Given the description of an element on the screen output the (x, y) to click on. 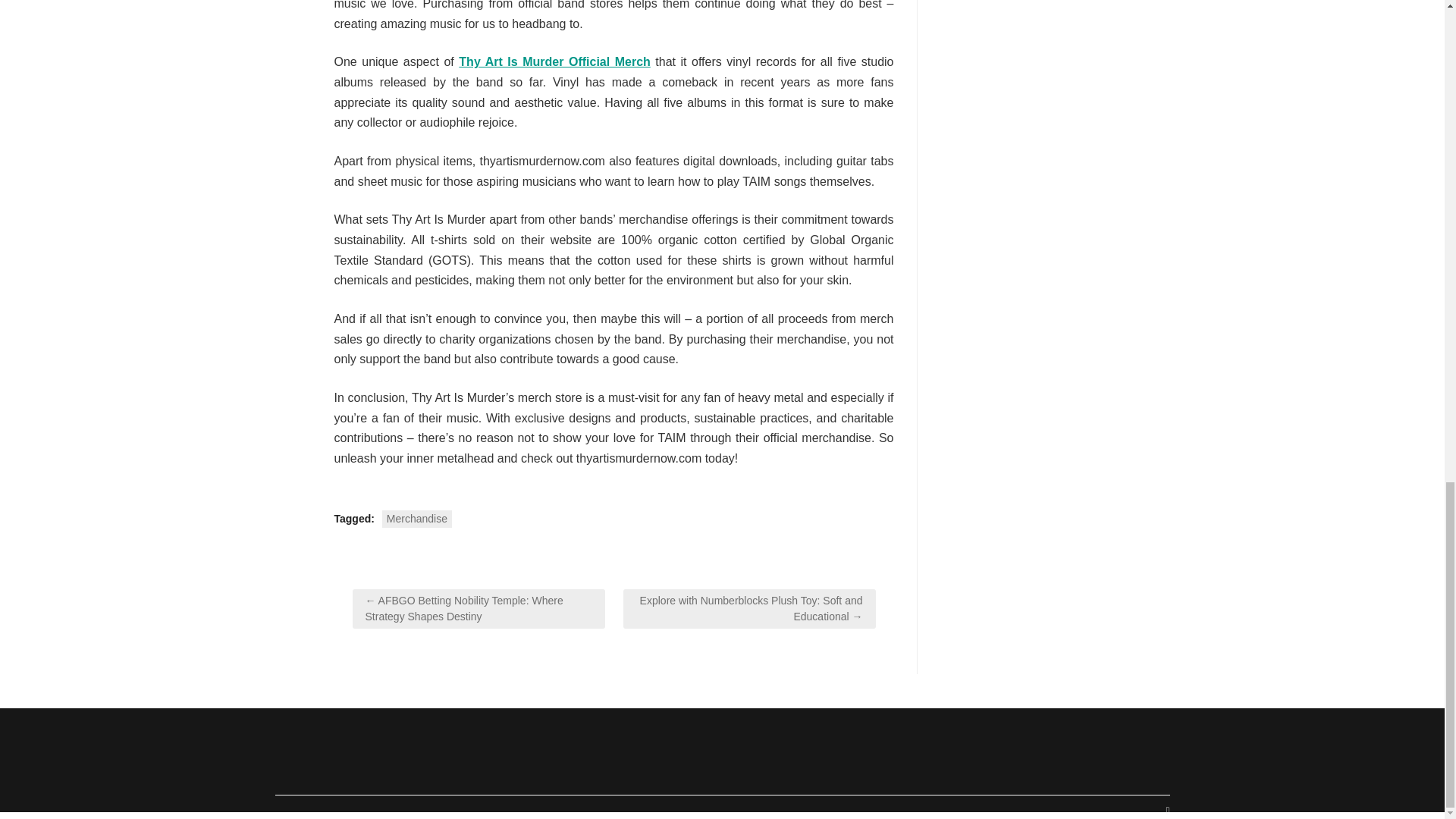
Merchandise (416, 518)
Thy Art Is Murder Official Merch (553, 61)
